Given the description of an element on the screen output the (x, y) to click on. 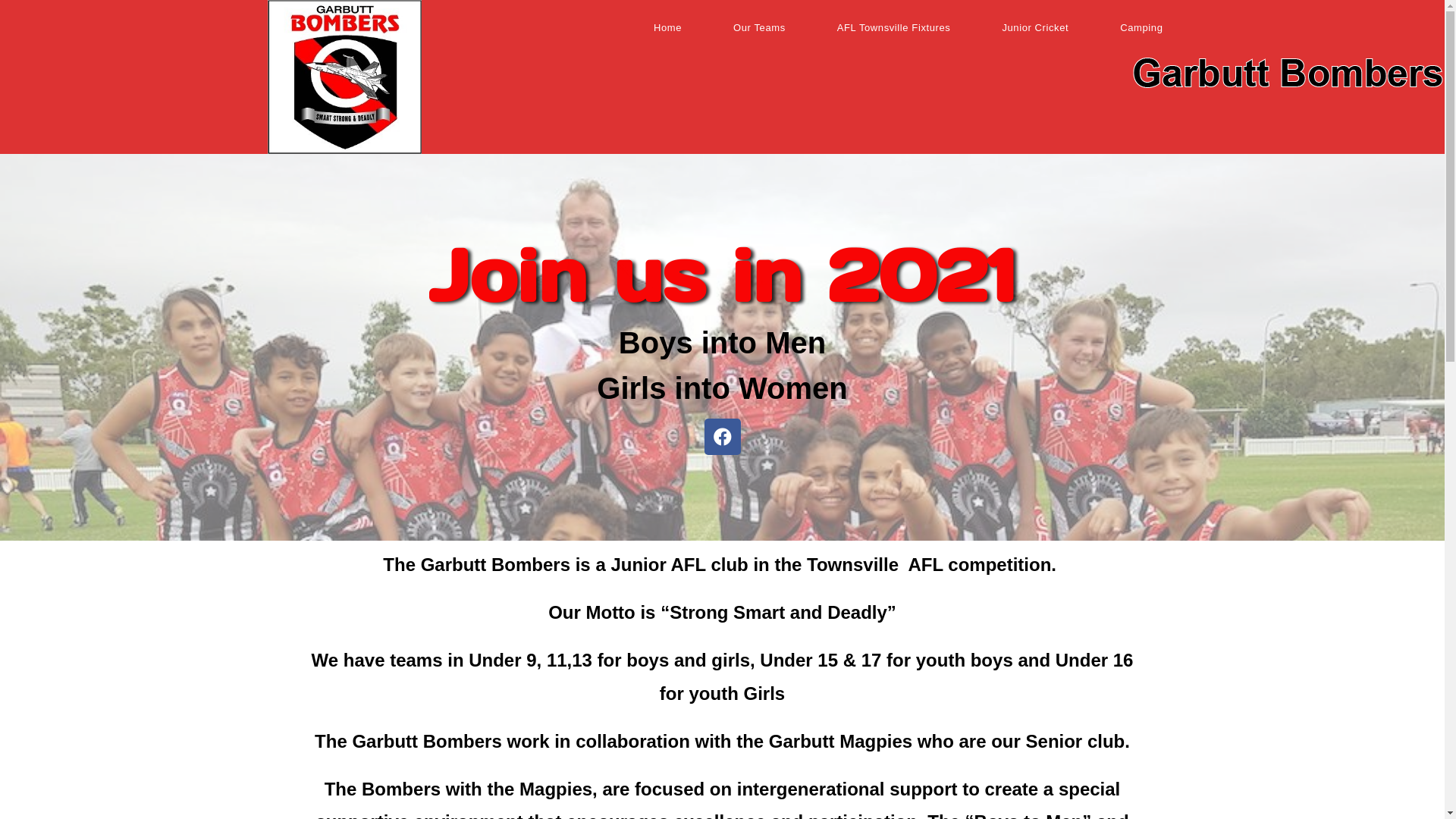
Our Teams Element type: text (759, 28)
Camping Element type: text (1141, 28)
AFL Townsville Fixtures Element type: text (893, 28)
Home Element type: text (667, 28)
Junior Cricket Element type: text (1034, 28)
